Given the description of an element on the screen output the (x, y) to click on. 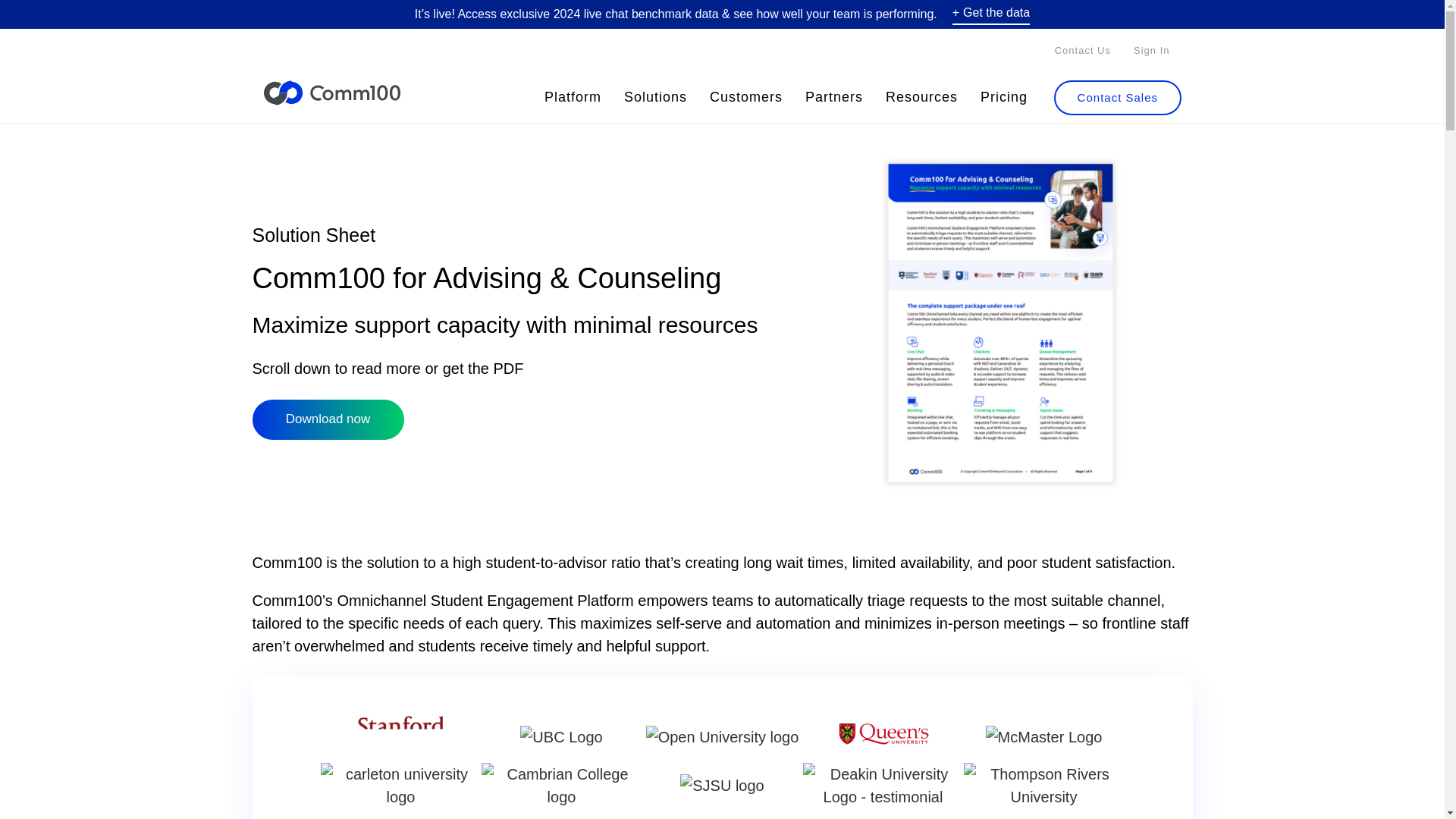
Sign In (1151, 50)
Contact Sales (1117, 97)
Contact Us (1082, 50)
Get the data (990, 14)
